Given the description of an element on the screen output the (x, y) to click on. 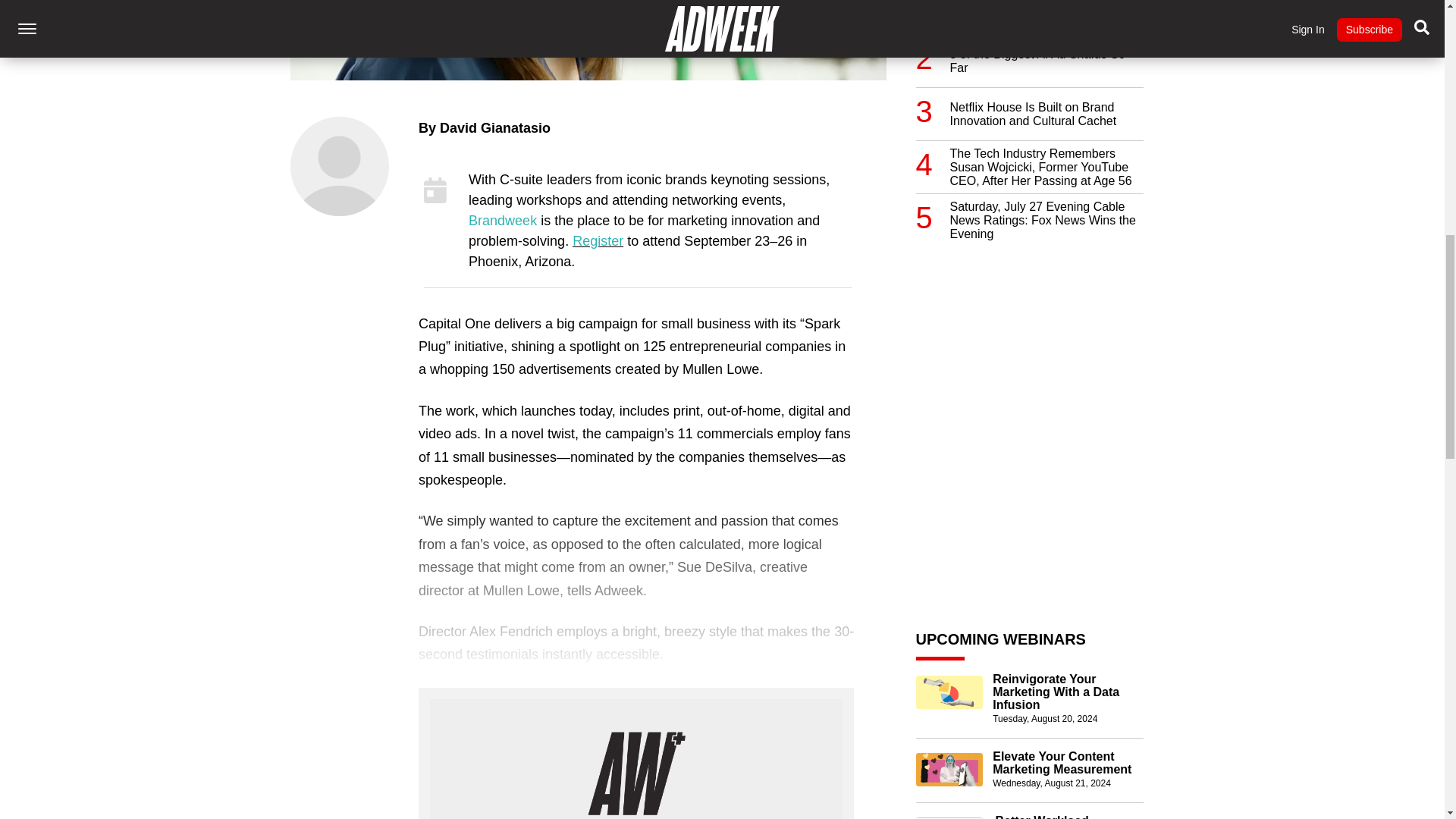
Nativo-Webinar-082124-Header (948, 769)
capital-one-fans-hed-2015.jpg (587, 40)
Register (597, 240)
Adobe-Webinar-082224-Header (948, 818)
David Gianatasio (494, 127)
Acxiom-Webinar-082024-Header (948, 692)
